Given the description of an element on the screen output the (x, y) to click on. 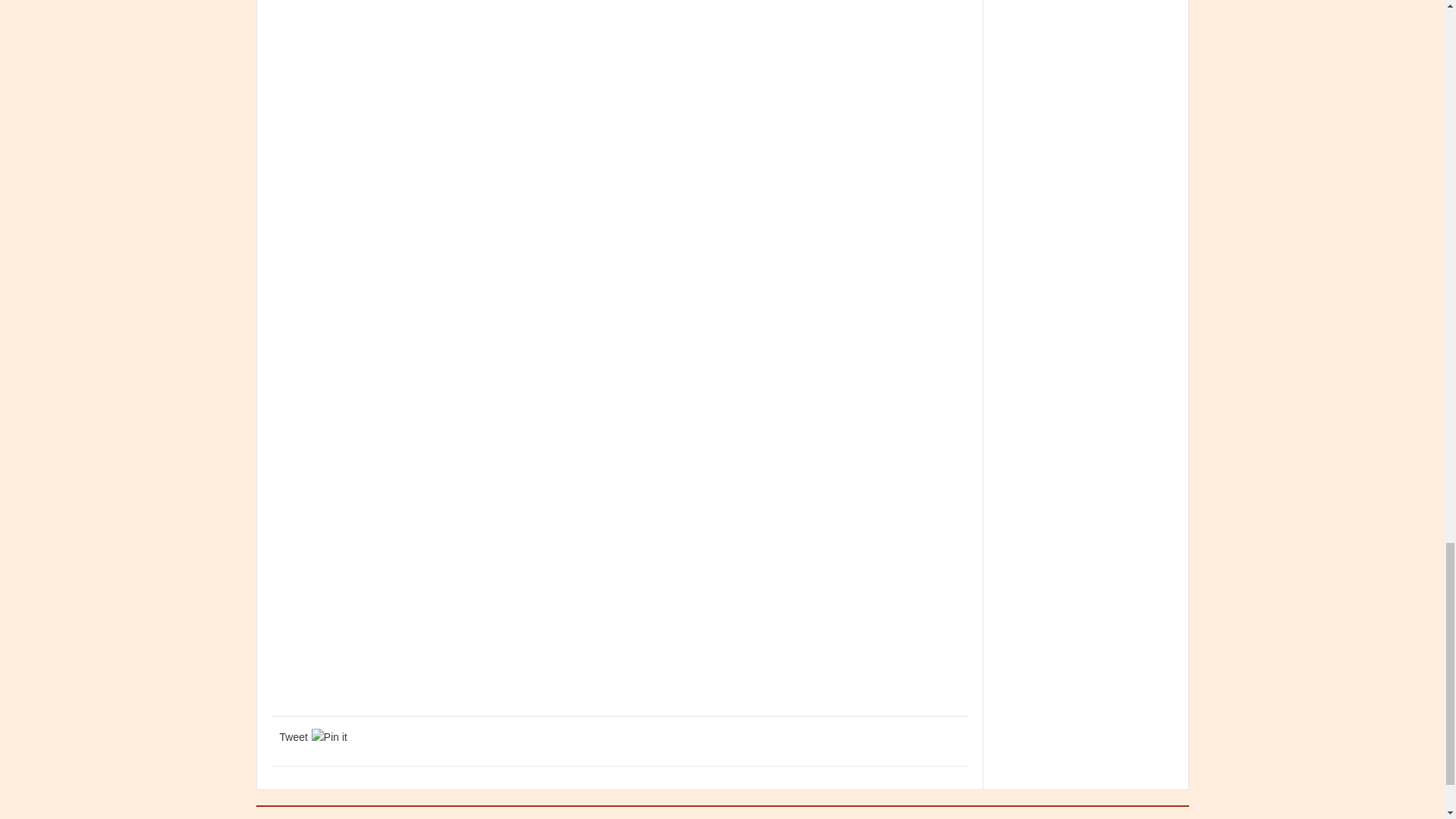
Pin it (329, 736)
Tweet (293, 736)
